Given the description of an element on the screen output the (x, y) to click on. 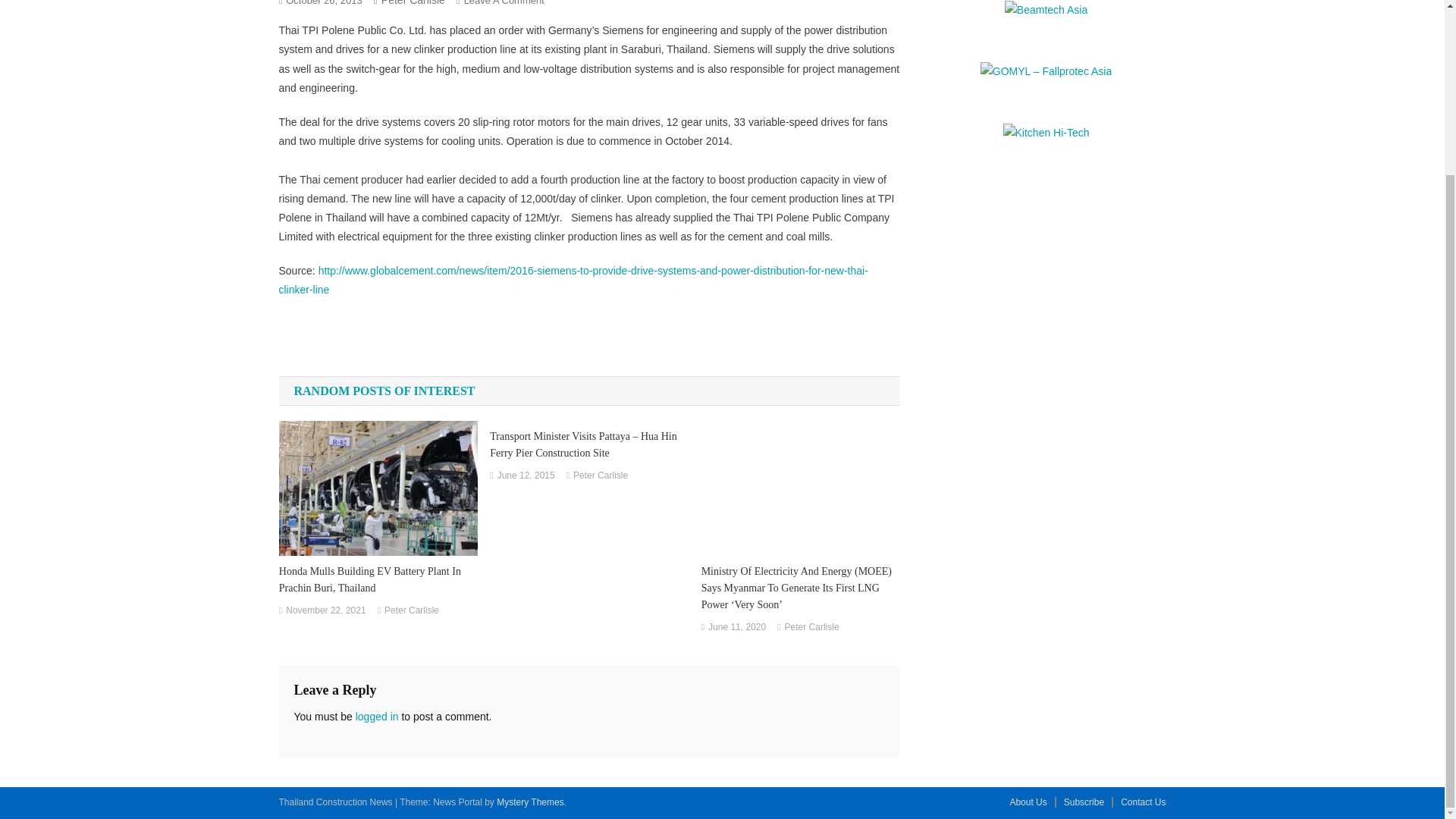
November 22, 2021 (325, 610)
June 12, 2015 (525, 475)
Peter Carlisle (411, 610)
October 26, 2013 (323, 2)
Peter Carlisle (413, 2)
Peter Carlisle (600, 475)
